Given the description of an element on the screen output the (x, y) to click on. 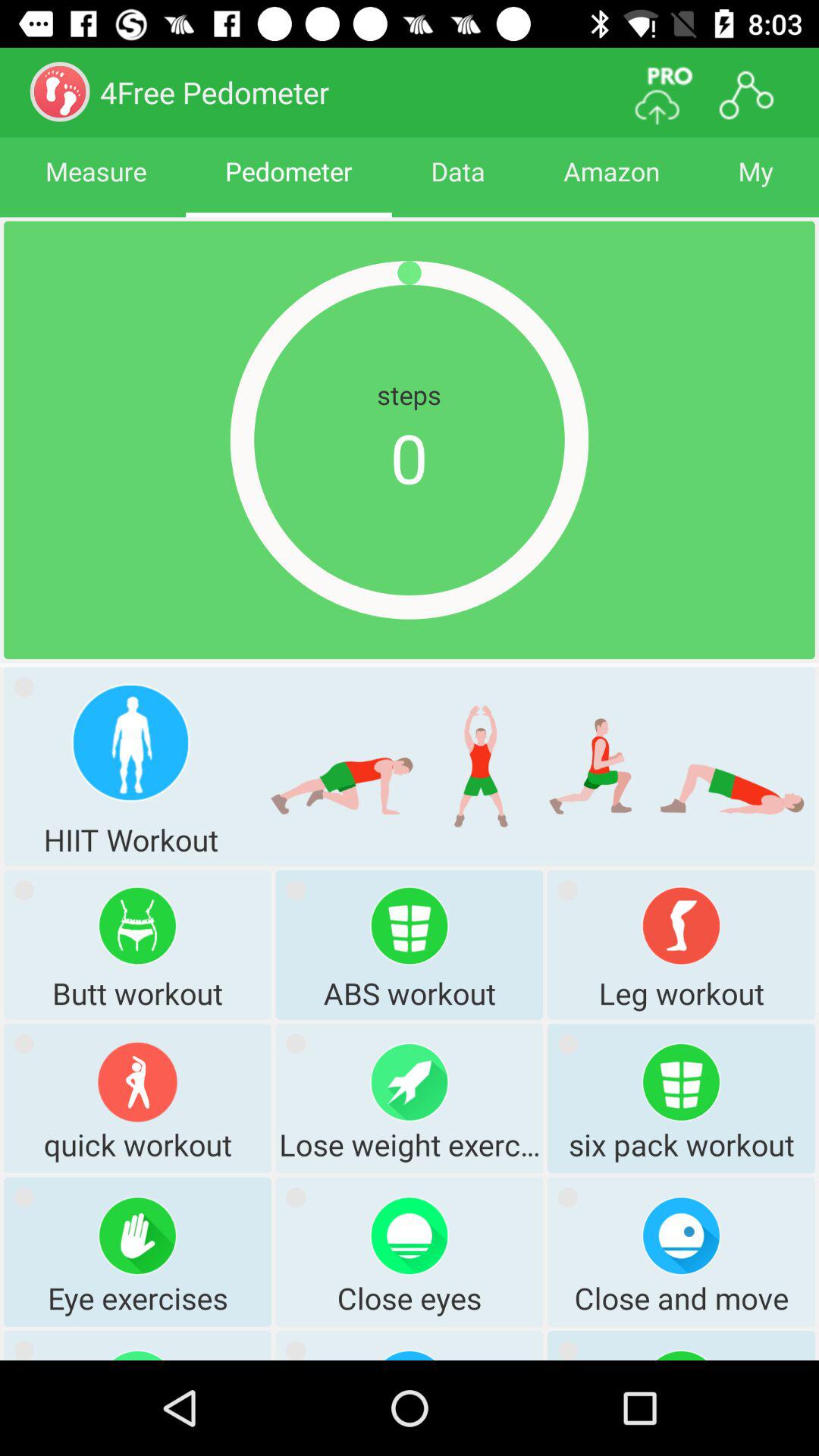
flip to data (457, 185)
